Given the description of an element on the screen output the (x, y) to click on. 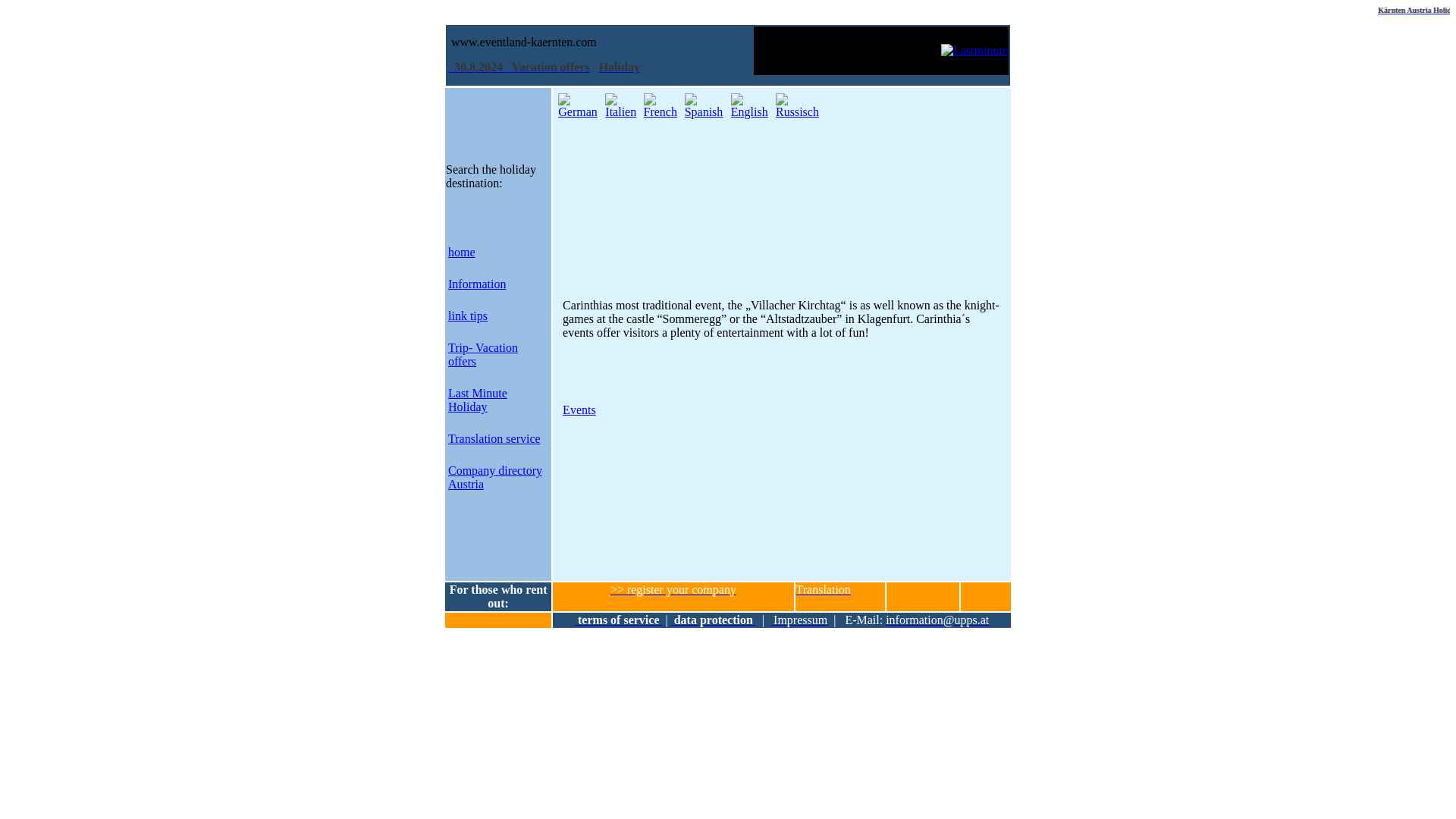
link tips (467, 315)
Trip- Vacation offers (483, 354)
Information (476, 283)
home (462, 251)
Events (578, 409)
  30.8.2024   Vacation offers (518, 66)
Holiday (619, 66)
Last Minute Holiday (477, 399)
Company directory Austria (494, 477)
Translation (823, 589)
